Given the description of an element on the screen output the (x, y) to click on. 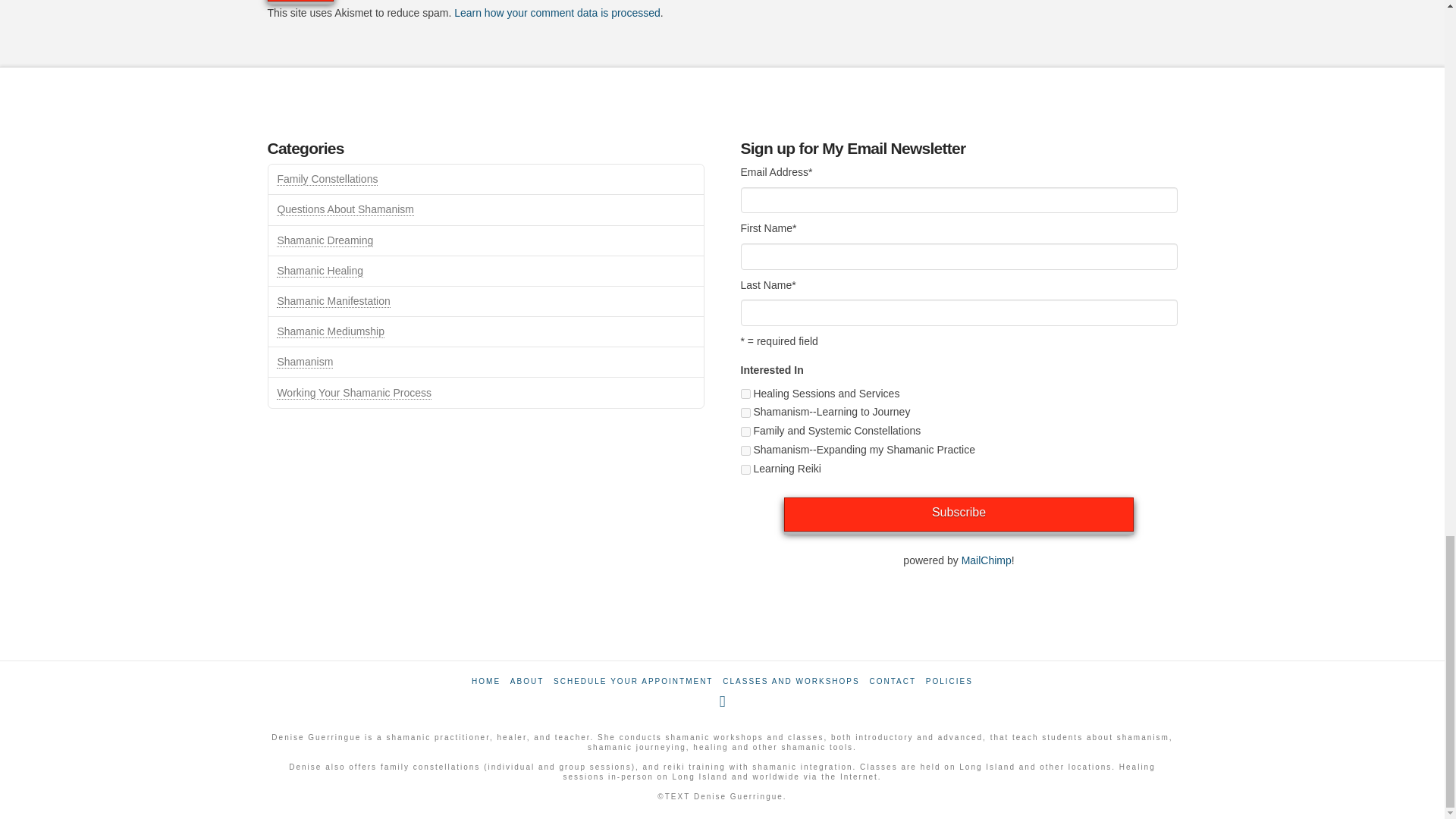
Subscribe (959, 514)
Shamanism--Learning to Journey (744, 412)
Submit (299, 0)
Shamanism--Expanding my Shamanic Practice (744, 450)
Family and Systemic Constellations (744, 431)
Learning Reiki (744, 470)
Healing Sessions and Services (744, 393)
